Given the description of an element on the screen output the (x, y) to click on. 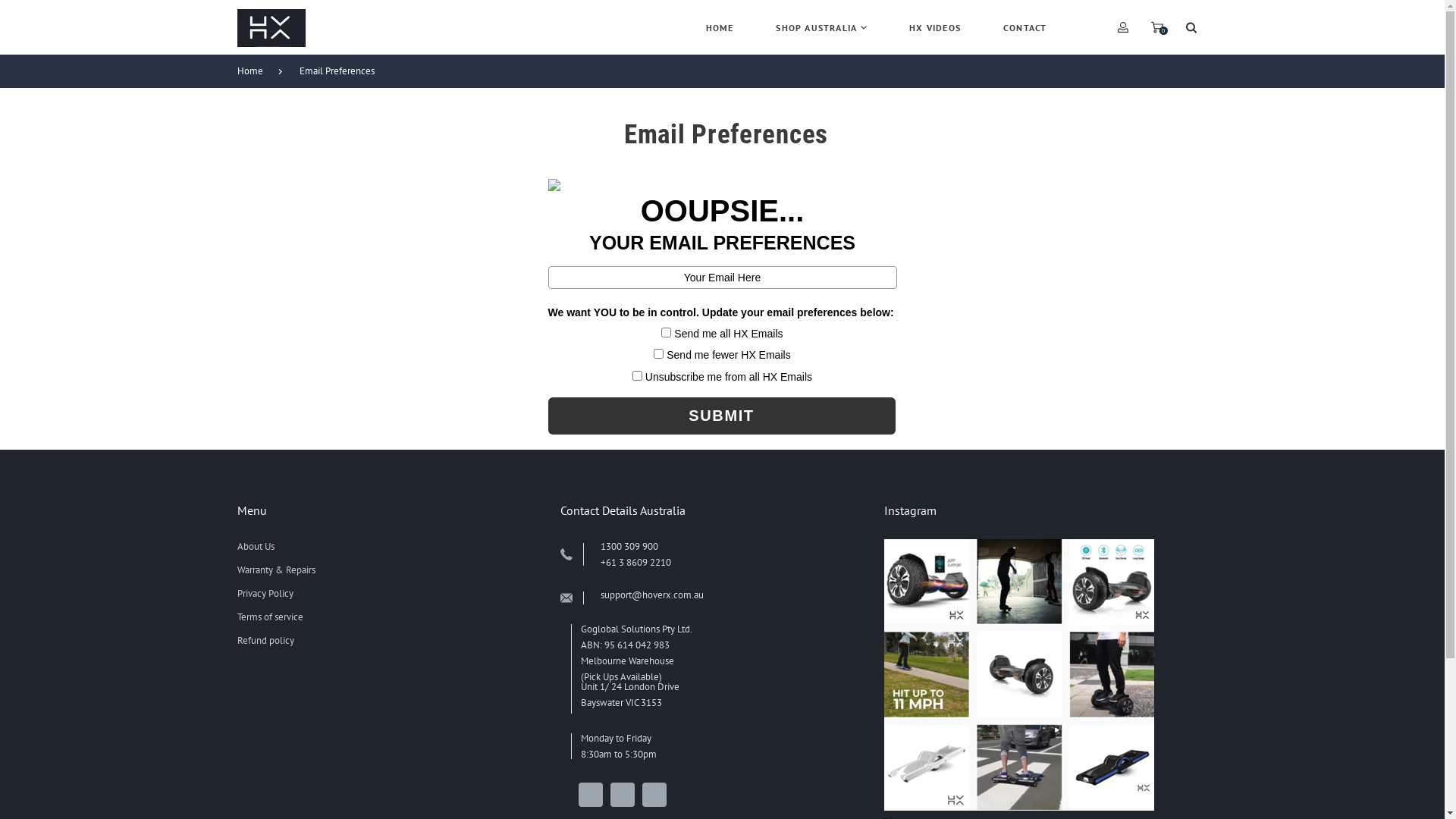
Warranty & Repairs Element type: text (275, 569)
Sign In Element type: text (1010, 221)
Email Preferences Element type: text (343, 71)
Refund policy Element type: text (264, 639)
CONTACT Element type: text (1024, 27)
Home Element type: text (256, 71)
SHOP AUSTRALIA Element type: text (821, 27)
SUBMIT Element type: text (720, 415)
HX VIDEOS Element type: text (935, 27)
About Us Element type: text (254, 545)
Terms of service Element type: text (269, 616)
HOME Element type: text (719, 27)
0 Element type: text (1156, 26)
Privacy Policy Element type: text (264, 592)
